Given the description of an element on the screen output the (x, y) to click on. 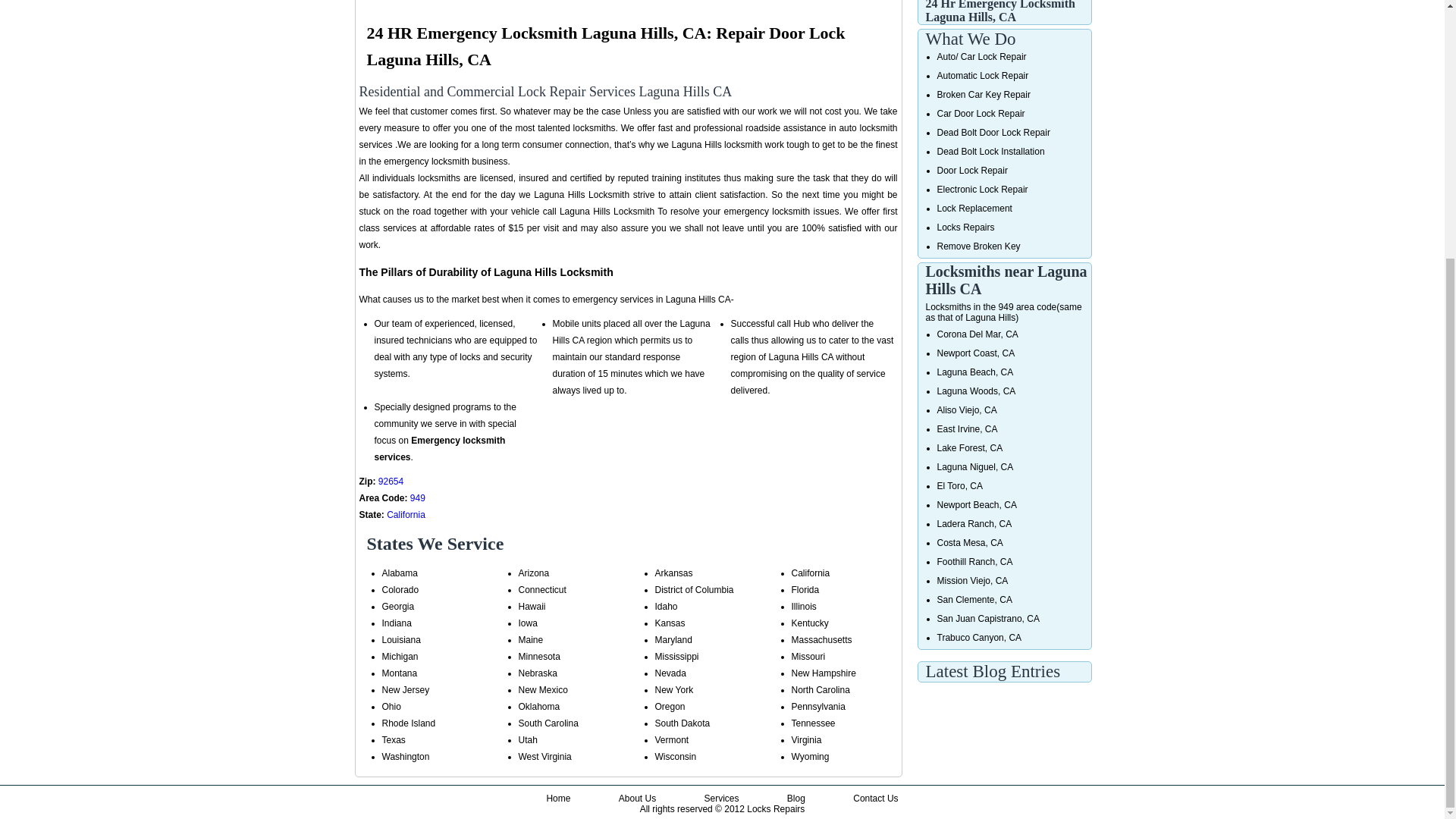
Permanent Link to San Clemente CA (974, 599)
Permanent Link to San Juan Capistrano CA (988, 618)
Idaho (666, 606)
Indiana (396, 623)
Kansas (670, 623)
Kentucky (810, 623)
Iowa (527, 623)
949 (417, 498)
